Given the description of an element on the screen output the (x, y) to click on. 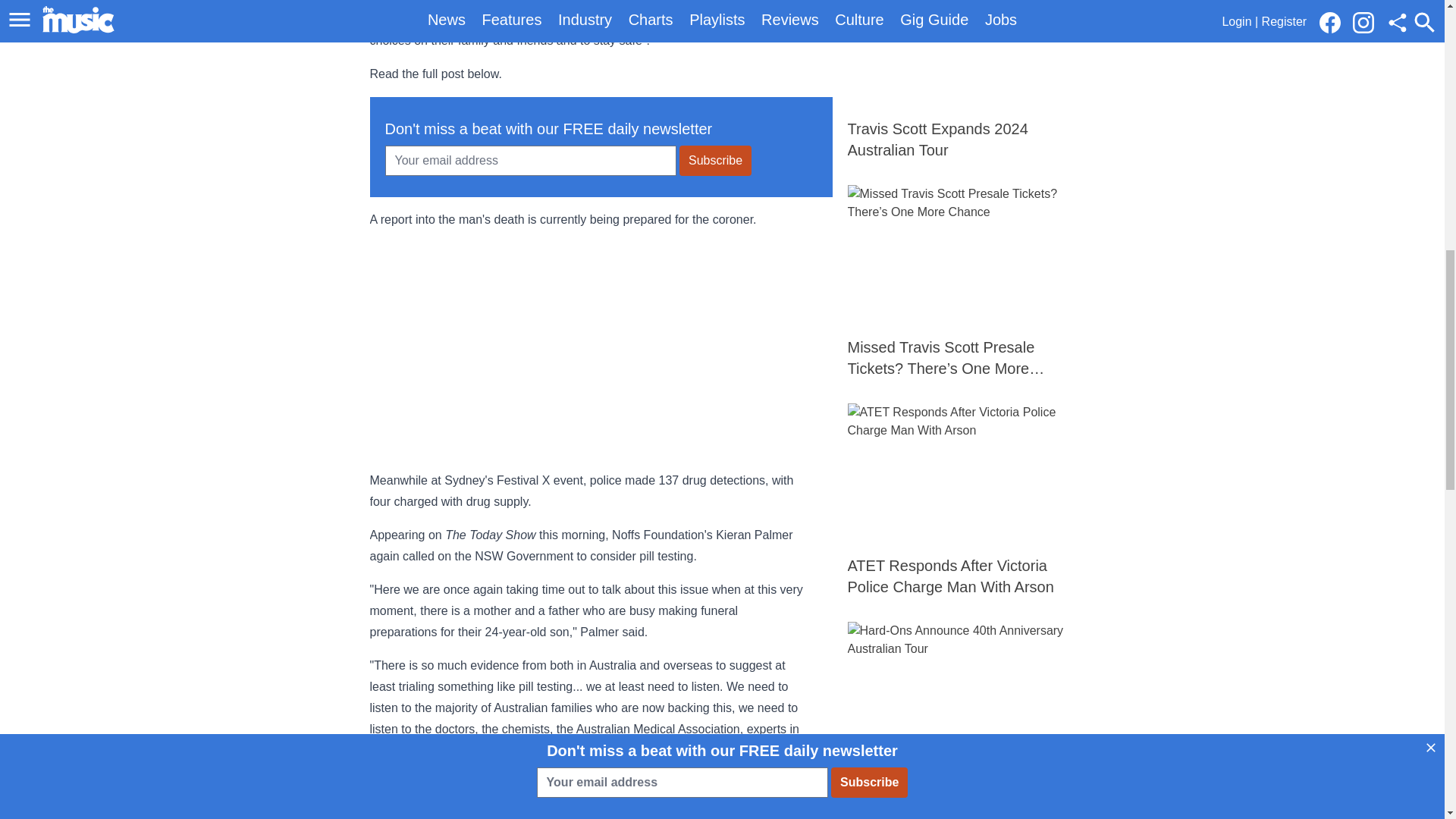
Subscribe (715, 160)
Hard-Ons Announce 40th Anniversary Australian Tour (961, 718)
ATET Responds After Victoria Police Charge Man With Arson (961, 500)
made recommendations (663, 783)
Travis Scott Expands 2024 Australian Tour (961, 80)
